Given the description of an element on the screen output the (x, y) to click on. 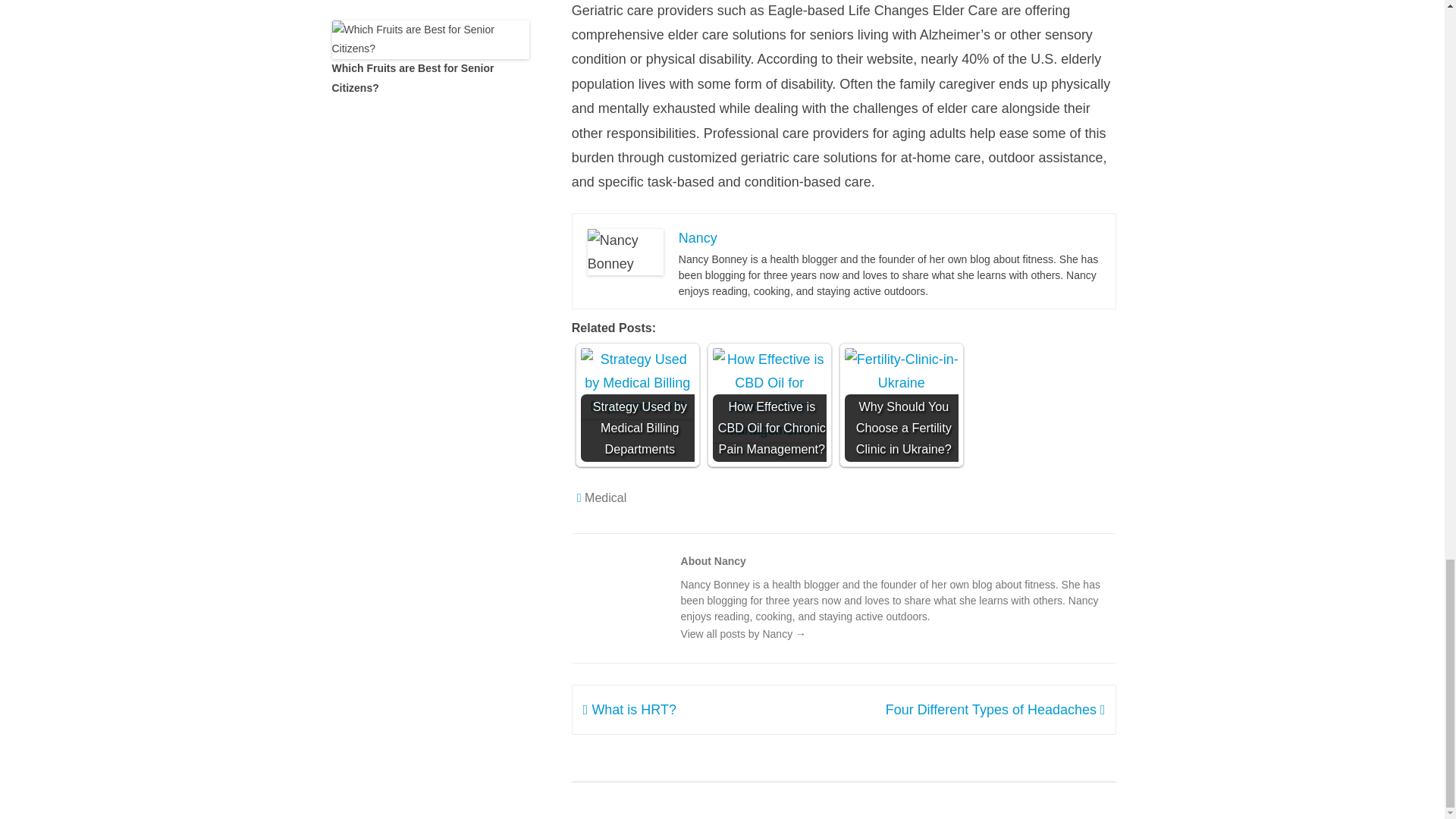
Strategy Used by Medical Billing Departments (637, 383)
How Effective is CBD Oil for Chronic Pain Management? (770, 394)
Why Should You Choose a Fertility Clinic in Ukraine? (901, 371)
Nancy Bonney (625, 252)
